Given the description of an element on the screen output the (x, y) to click on. 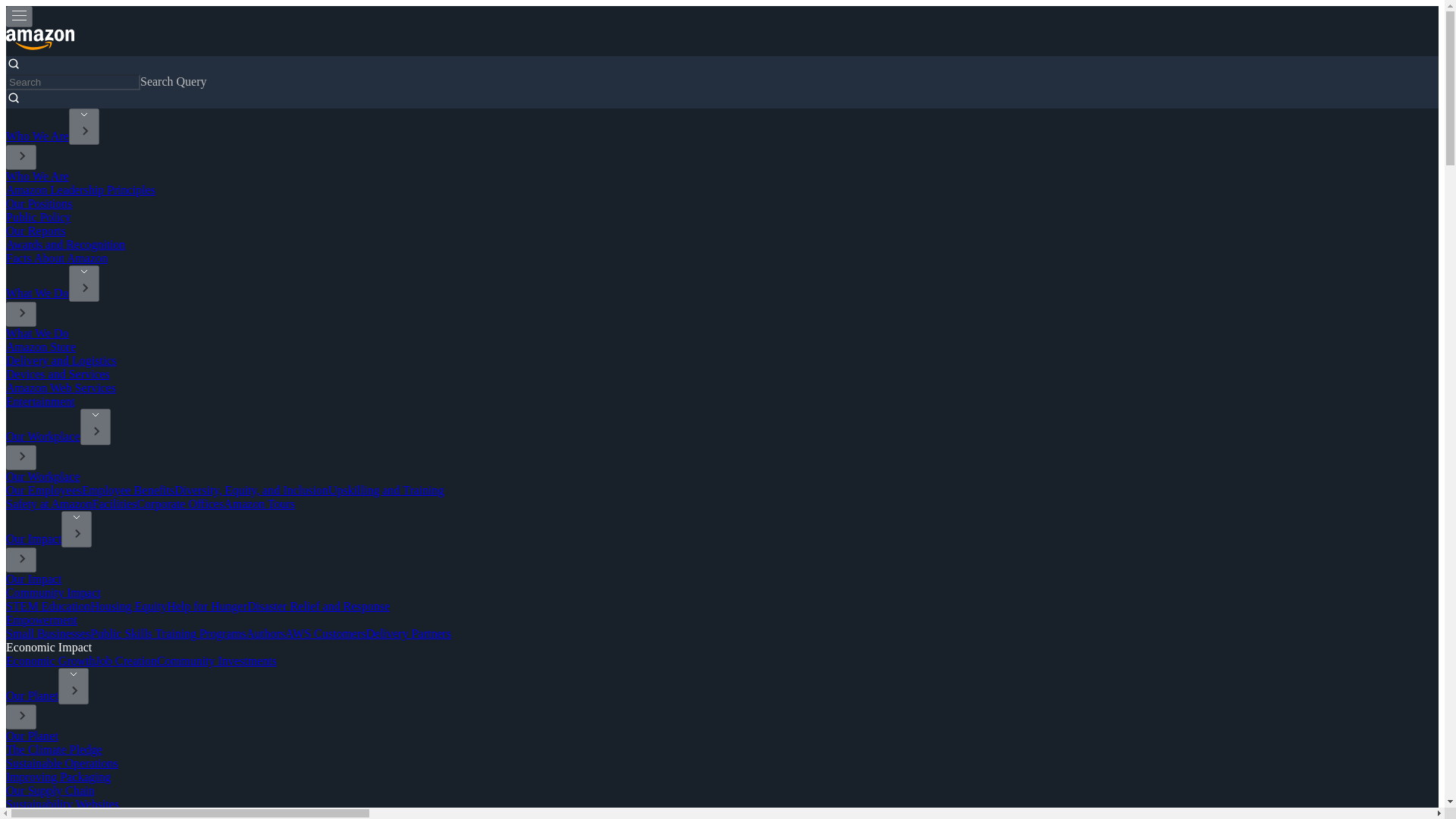
Delivery and Logistics (60, 359)
What We Do (36, 292)
Amazon Leadership Principles (80, 189)
Our Reports (35, 230)
Public Policy (38, 216)
Who We Are (36, 135)
Awards and Recognition (65, 244)
Our Employees (43, 490)
Employee Benefits (127, 490)
Our Workplace (42, 476)
Diversity, Equity, and Inclusion (251, 490)
What We Do (36, 332)
Who We Are (36, 175)
Amazon Store (40, 346)
Community Impact (52, 592)
